Given the description of an element on the screen output the (x, y) to click on. 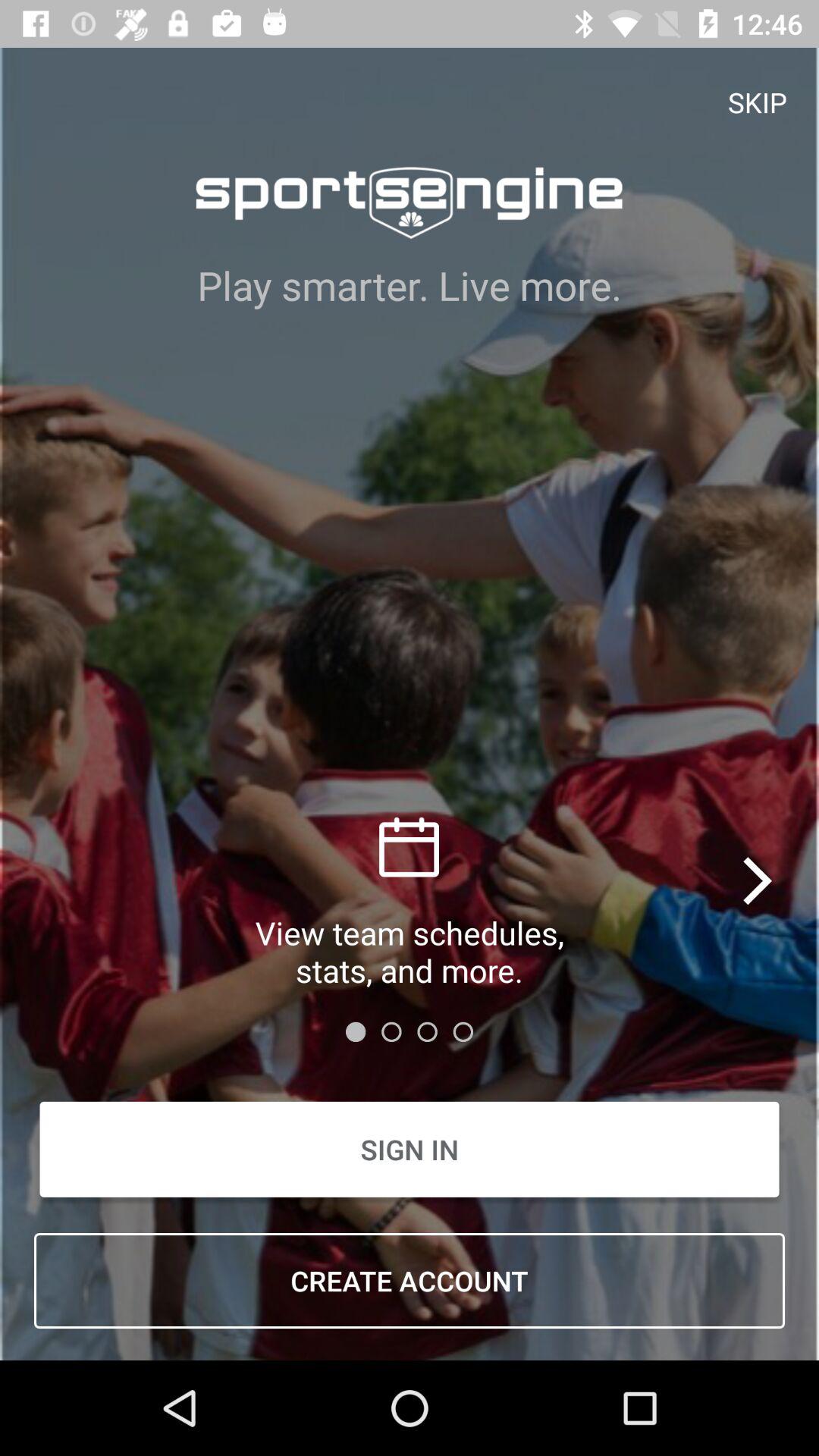
flip until skip (757, 102)
